Given the description of an element on the screen output the (x, y) to click on. 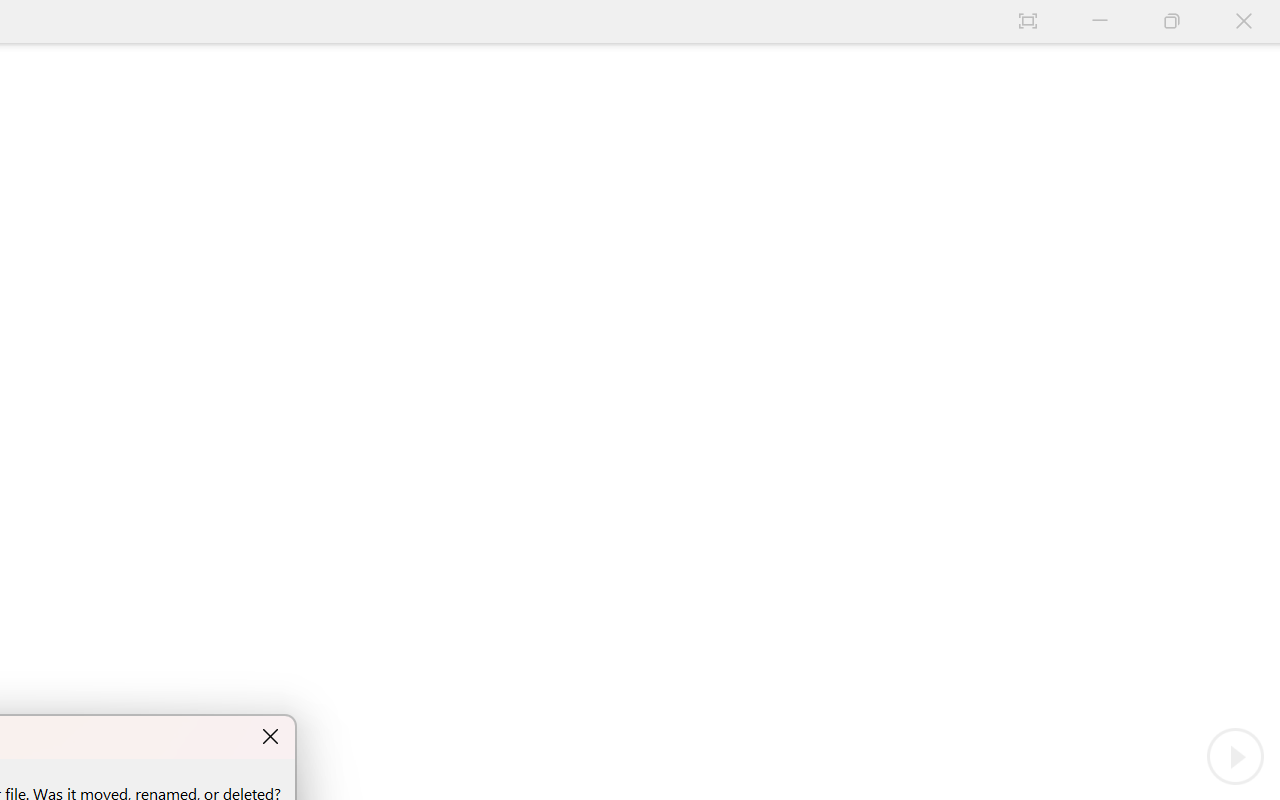
Close (1244, 21)
Auto-hide Reading Toolbar (1027, 21)
Restore Down (1172, 21)
Minimize (1099, 21)
